Given the description of an element on the screen output the (x, y) to click on. 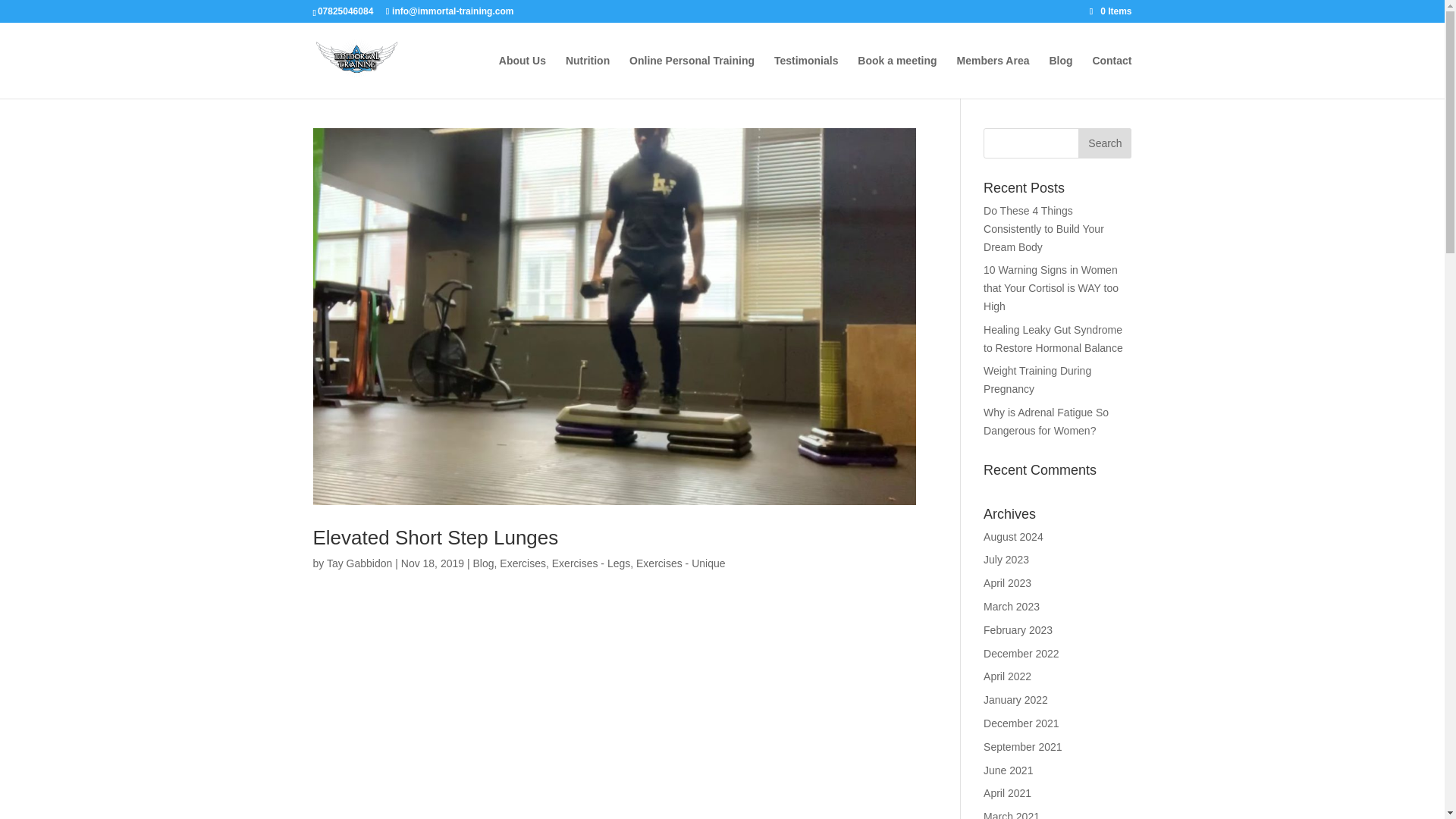
Contact (1111, 76)
April 2021 (1007, 793)
Exercises - Unique (680, 563)
Testimonials (806, 76)
March 2021 (1011, 814)
December 2021 (1021, 723)
Search (1104, 142)
Nutrition (588, 76)
Exercises - Legs (590, 563)
Elevated Short Step Lunges (435, 537)
